Given the description of an element on the screen output the (x, y) to click on. 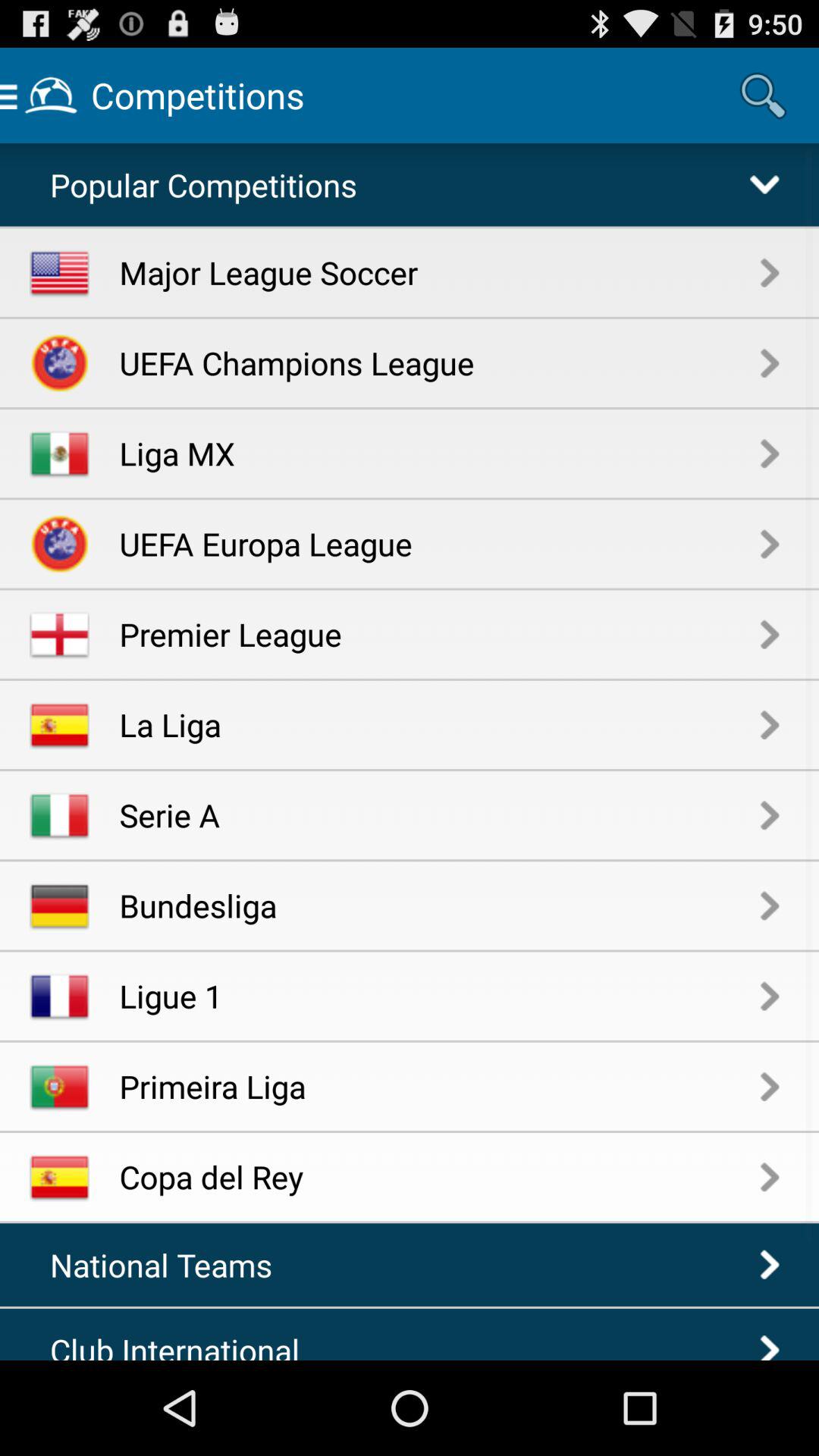
press ligue 1 icon (439, 995)
